Given the description of an element on the screen output the (x, y) to click on. 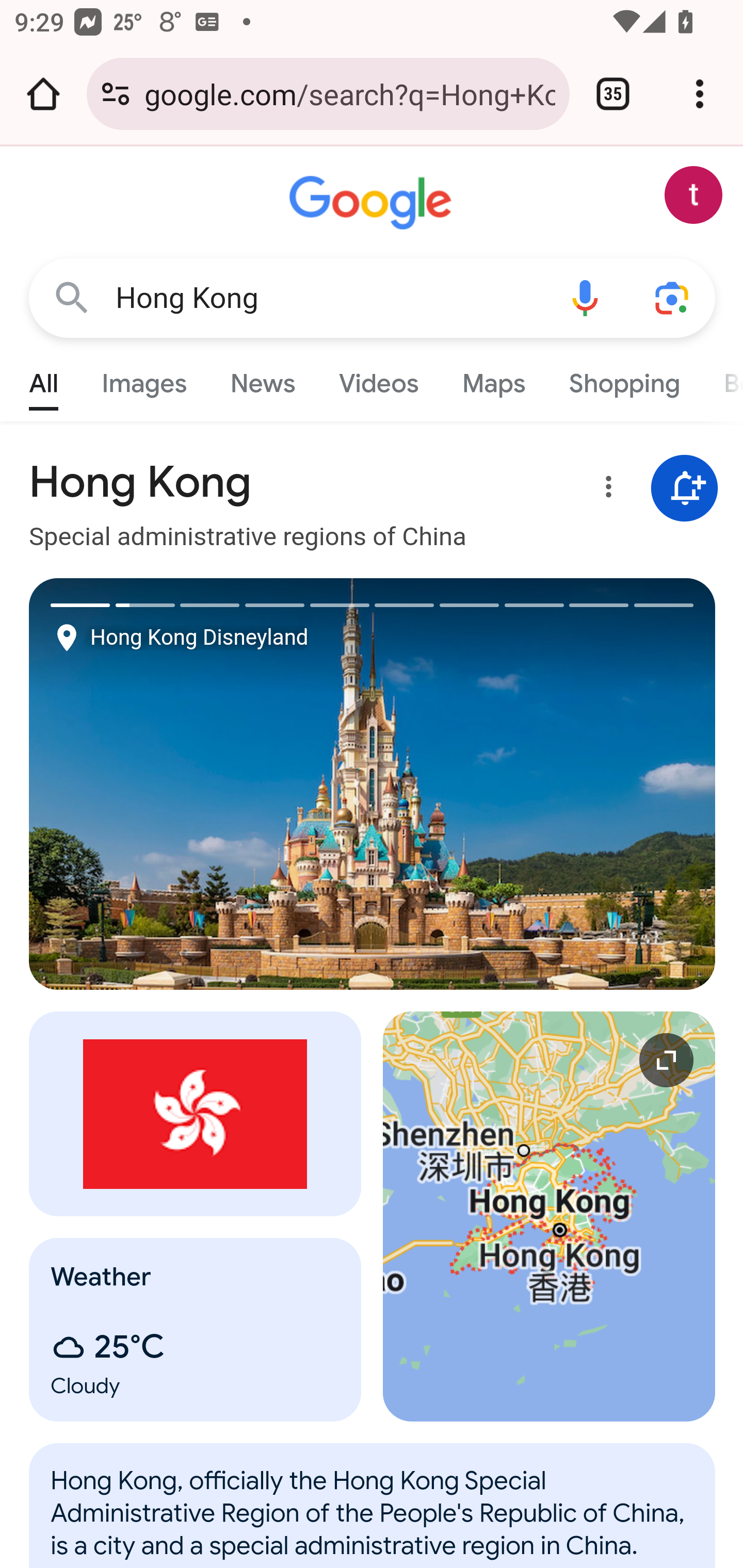
Open the home page (43, 93)
Connection is secure (115, 93)
Switch or close tabs (612, 93)
Customize and control Google Chrome (699, 93)
Google (372, 203)
Google Search (71, 296)
Search using your camera or photos (672, 296)
Hong Kong (328, 297)
Images (144, 378)
News (262, 378)
Videos (378, 378)
Maps (493, 378)
Shopping (623, 378)
Get notifications about Hong Kong (684, 489)
More options (605, 489)
Previous image (200, 783)
Next image (544, 783)
Expand map (549, 1216)
Image of the flag. (195, 1113)
Weather 25° Cloudy (195, 1328)
Hong_Kong (372, 1516)
